Given the description of an element on the screen output the (x, y) to click on. 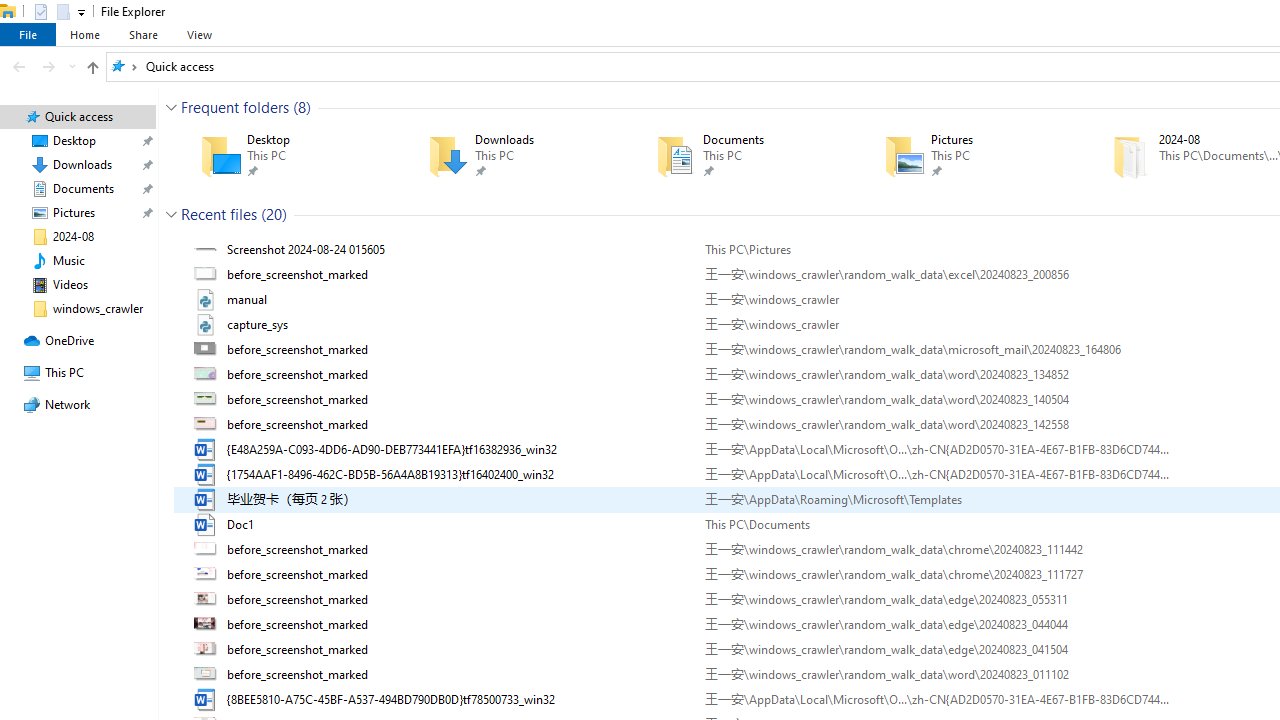
Up to "Desktop" (Alt + Up Arrow) (92, 67)
Name (458, 699)
Pictures (969, 156)
Up band toolbar (92, 70)
Class: UIImage (207, 699)
System (10, 11)
Documents (741, 156)
Path (936, 699)
View (199, 34)
All locations (124, 65)
Desktop (286, 156)
Quick Access Toolbar (51, 11)
Customize Quick Access Toolbar (81, 11)
File tab (28, 34)
Pinned (1003, 170)
